Given the description of an element on the screen output the (x, y) to click on. 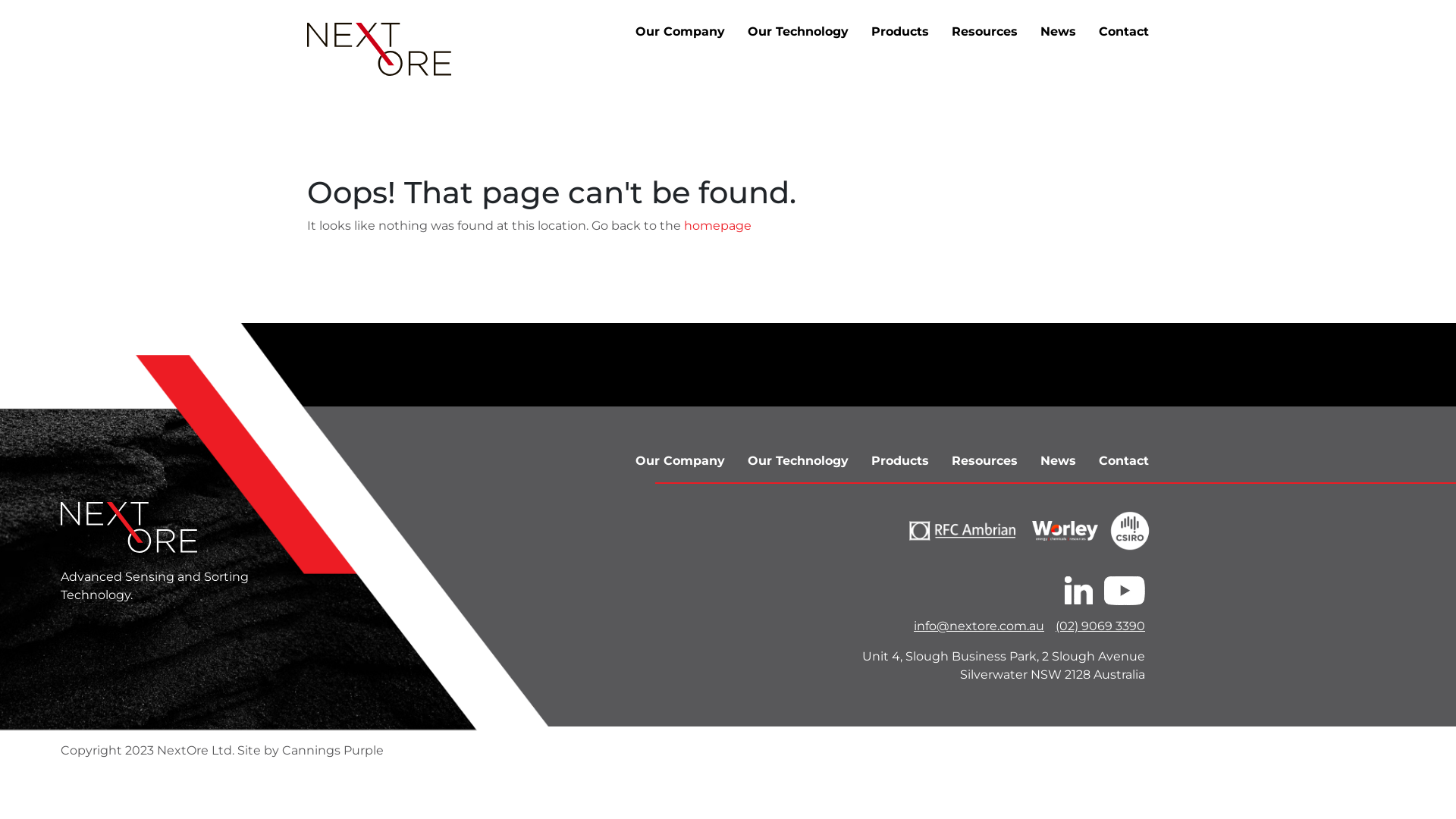
Resources Element type: text (984, 460)
Our Technology Element type: text (797, 460)
Contact Element type: text (1123, 31)
info@nextore.com.au Element type: text (973, 625)
homepage Element type: text (717, 225)
Our Technology Element type: text (797, 31)
Contact Element type: text (1123, 460)
News Element type: text (1058, 31)
Products Element type: text (899, 460)
Our Company Element type: text (680, 31)
Products Element type: text (899, 31)
Our Company Element type: text (679, 460)
News Element type: text (1058, 460)
Resources Element type: text (984, 31)
(02) 9069 3390 Element type: text (1094, 625)
Cannings Purple Element type: text (332, 750)
